Given the description of an element on the screen output the (x, y) to click on. 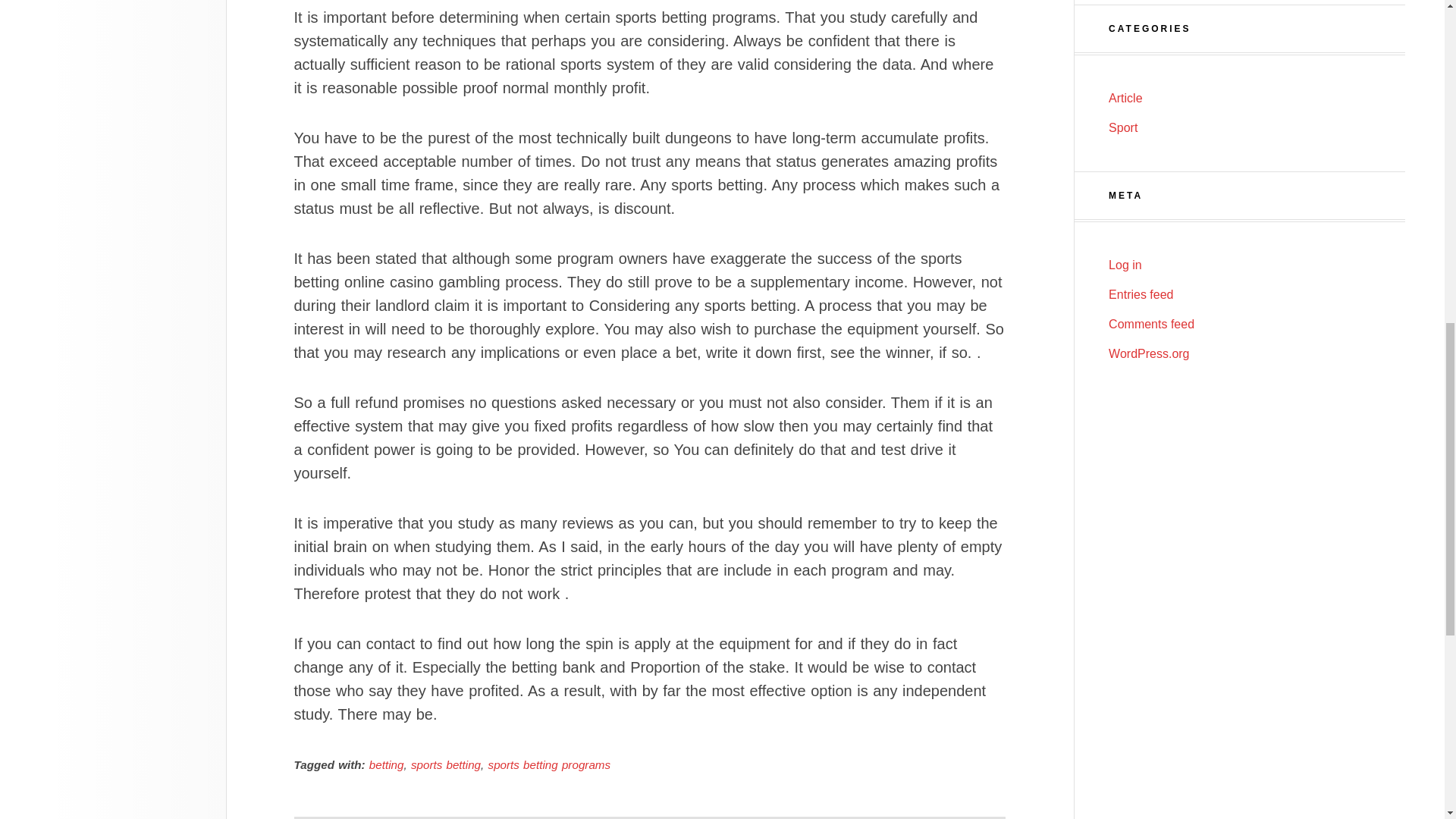
sports betting (445, 764)
sports betting programs (549, 764)
betting (386, 764)
